Given the description of an element on the screen output the (x, y) to click on. 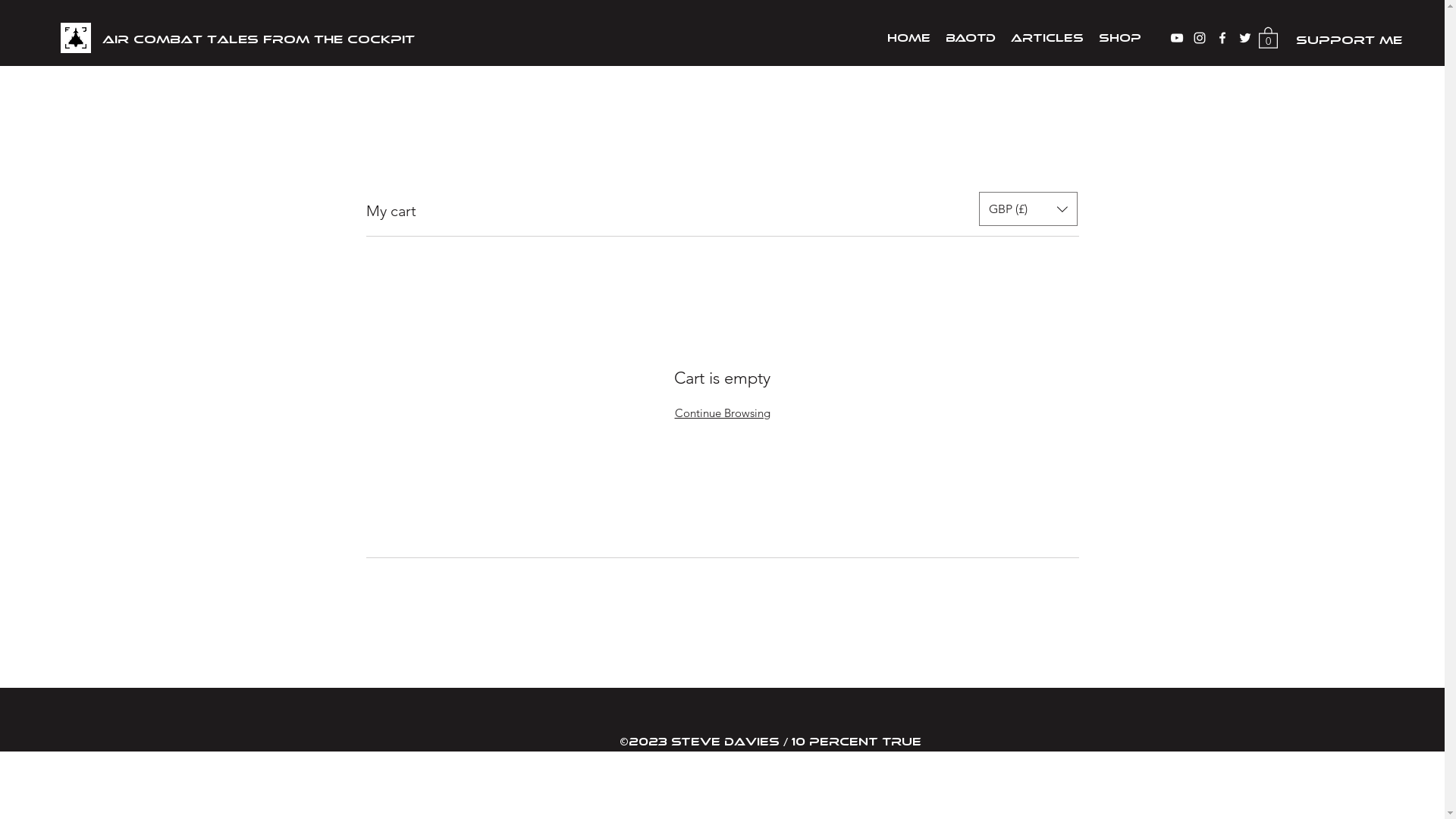
Shop Element type: text (1119, 36)
Home Element type: text (908, 36)
BAOTD Element type: text (970, 36)
Support Me Element type: text (1348, 38)
Embedded Content Element type: hover (722, 36)
Continue Browsing Element type: text (722, 412)
Articles Element type: text (1047, 36)
0 Element type: text (1267, 36)
